Given the description of an element on the screen output the (x, y) to click on. 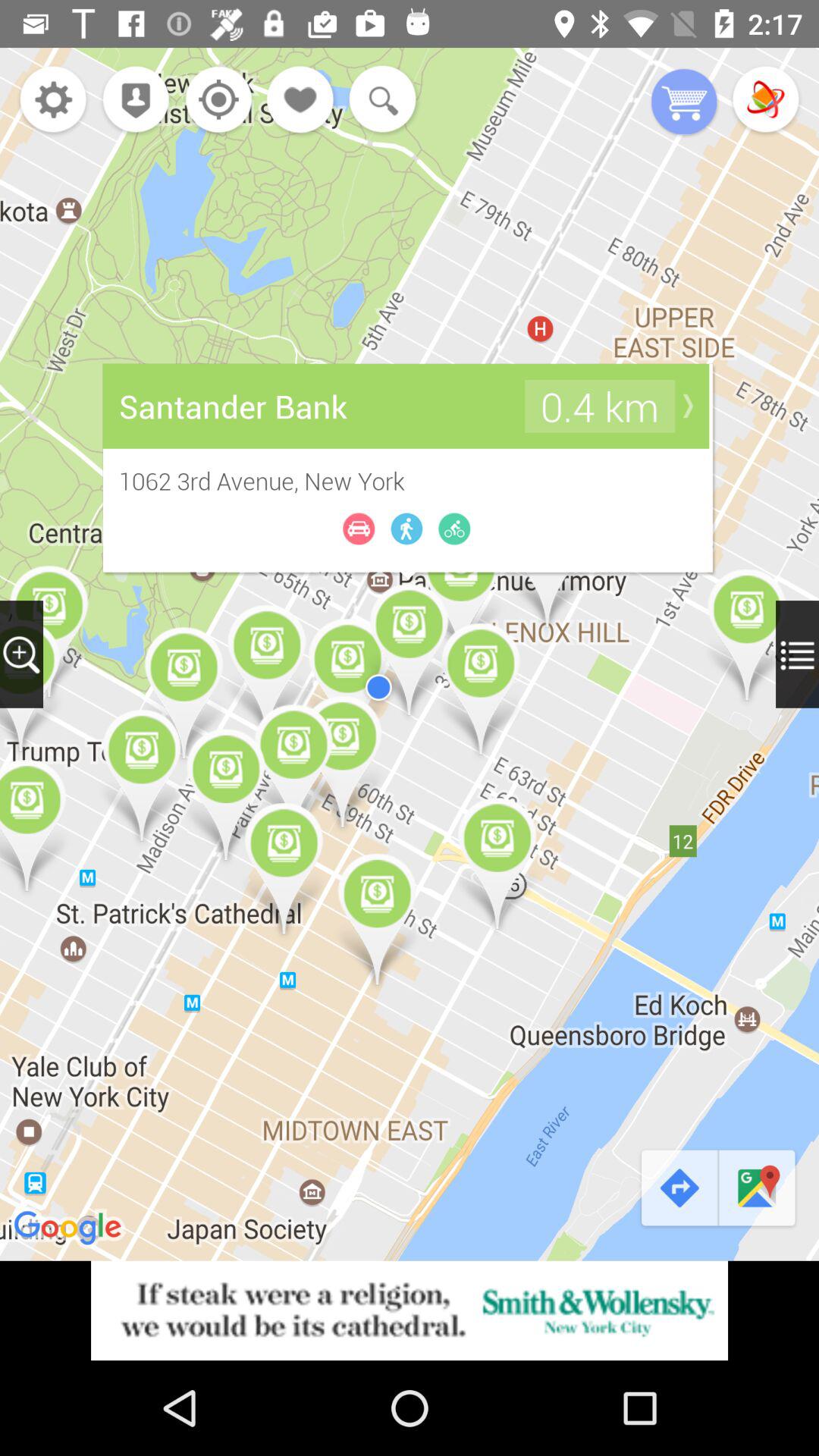
view list (797, 654)
